Given the description of an element on the screen output the (x, y) to click on. 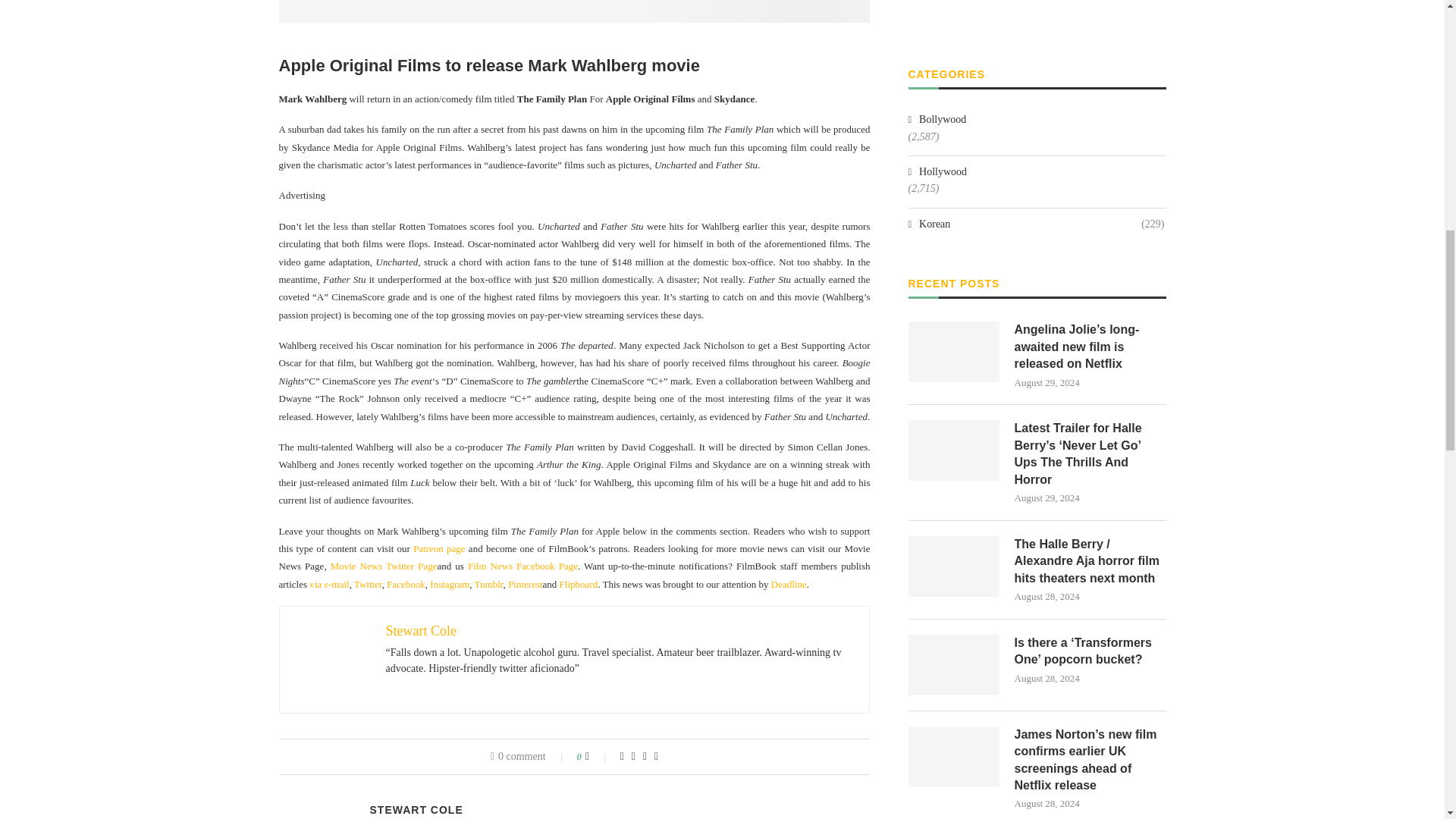
Tumblr (488, 583)
Twitter (367, 583)
Instagram (448, 583)
Facebook (406, 583)
Film News Facebook Page (522, 565)
Flipboard (578, 583)
Stewart Cole (420, 630)
via e-mail (328, 583)
Deadline (788, 583)
Patreon page (438, 548)
